Given the description of an element on the screen output the (x, y) to click on. 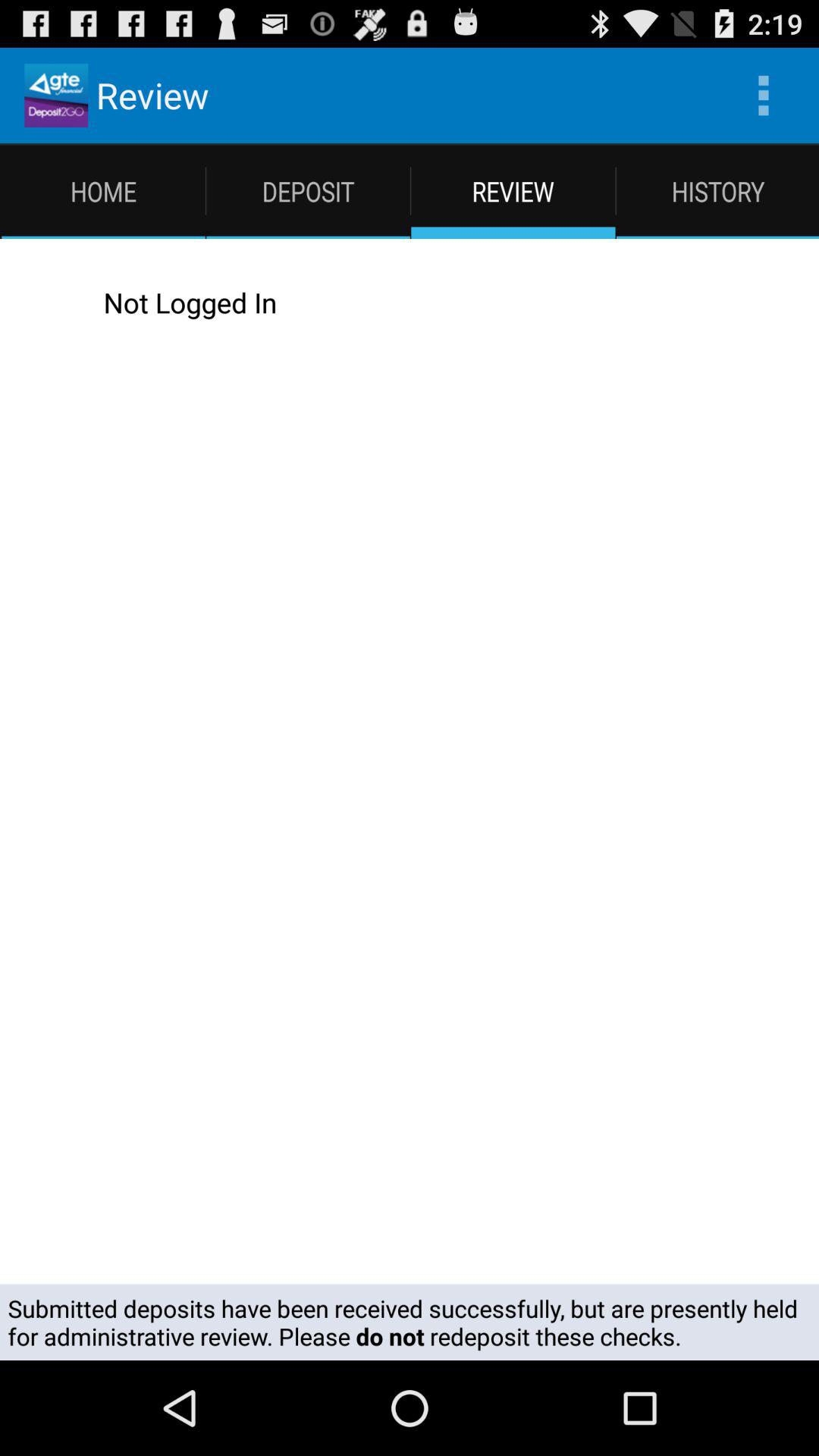
press the not logged in app (425, 302)
